Given the description of an element on the screen output the (x, y) to click on. 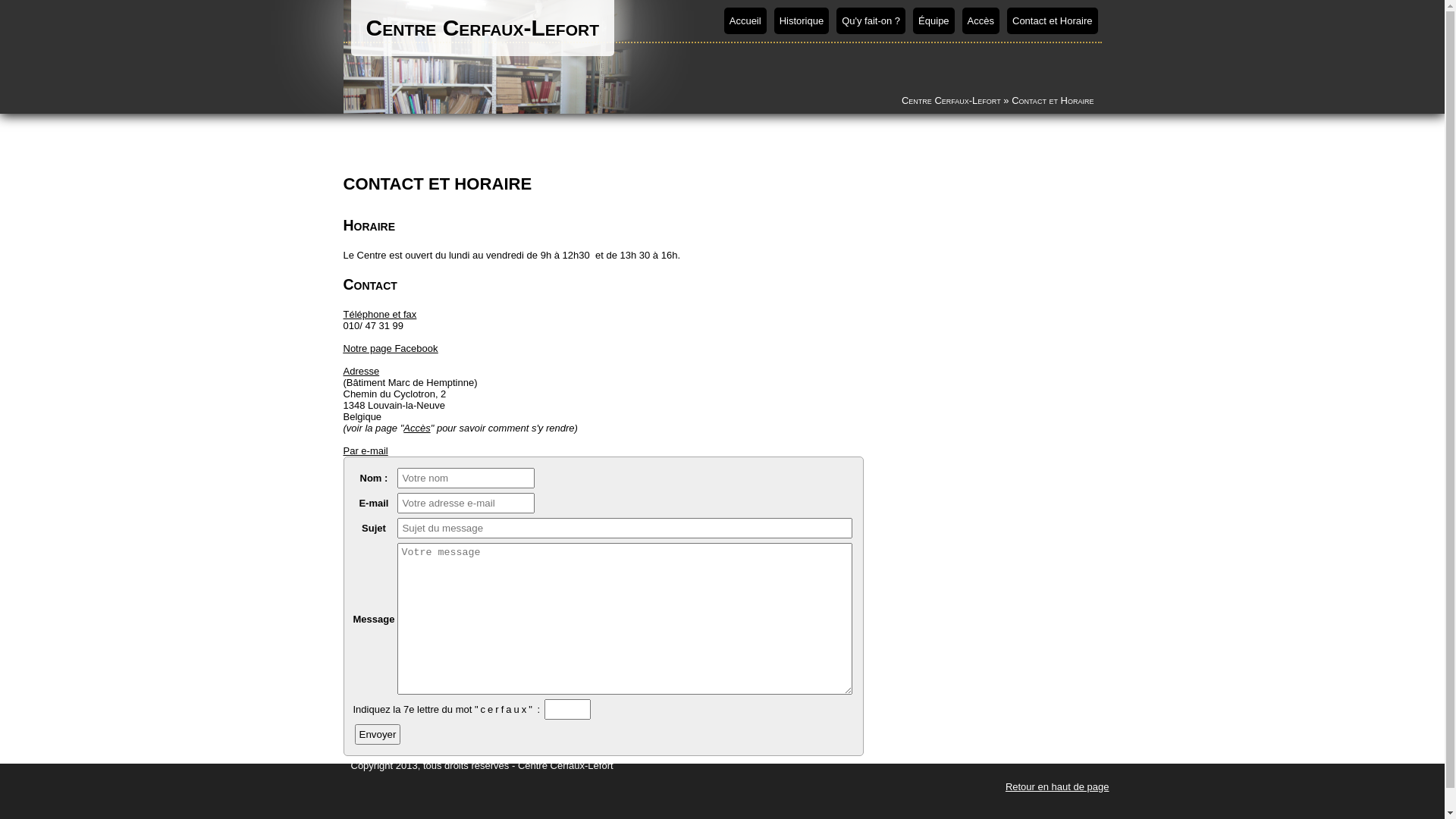
Historique Element type: text (801, 20)
Contact et Horaire Element type: text (1052, 100)
Notre page Facebook Element type: text (389, 348)
Envoyer Element type: text (377, 734)
Retour en haut de page Element type: text (1057, 786)
Contact et Horaire Element type: text (1052, 20)
Accueil Element type: text (745, 20)
Qu'y fait-on ? Element type: text (870, 20)
Centre Cerfaux-Lefort Element type: text (951, 100)
